Given the description of an element on the screen output the (x, y) to click on. 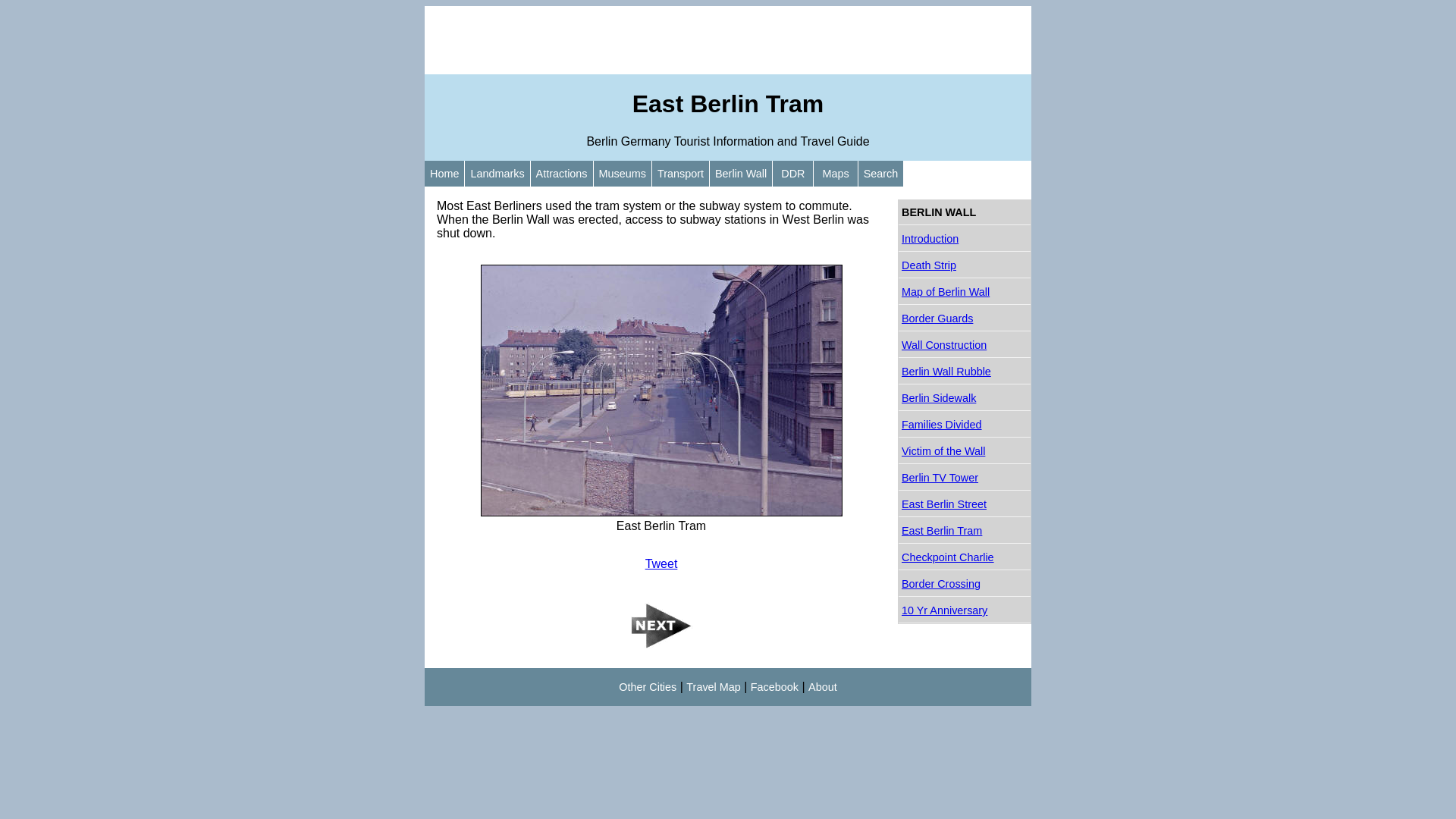
 Maps  Element type: text (834, 173)
About Element type: text (822, 686)
Transport Element type: text (680, 173)
Border Crossing Element type: text (964, 583)
Wall Construction Element type: text (964, 344)
BERLIN WALL Element type: text (964, 212)
Berlin Wall Rubble Element type: text (964, 371)
Victim of the Wall Element type: text (964, 451)
Advertisement Element type: hover (727, 40)
Berlin TV Tower Element type: text (964, 477)
Tweet Element type: text (661, 563)
Map of Berlin Wall Element type: text (964, 291)
Introduction Element type: text (964, 238)
Attractions Element type: text (561, 173)
 DDR  Element type: text (792, 173)
Berlin Sidewalk Element type: text (964, 398)
East Berlin Tram Element type: text (964, 530)
East Berlin Street Element type: text (964, 504)
Border Guards Element type: text (964, 318)
Families Divided Element type: text (964, 424)
Facebook Element type: text (774, 686)
Travel Map Element type: text (713, 686)
Museums Element type: text (622, 173)
Death Strip Element type: text (964, 265)
Landmarks Element type: text (496, 173)
Berlin Wall Element type: text (740, 173)
10 Yr Anniversary Element type: text (964, 610)
Other Cities Element type: text (647, 686)
Home Element type: text (444, 173)
Search Element type: text (880, 173)
Checkpoint Charlie Element type: text (964, 557)
